Given the description of an element on the screen output the (x, y) to click on. 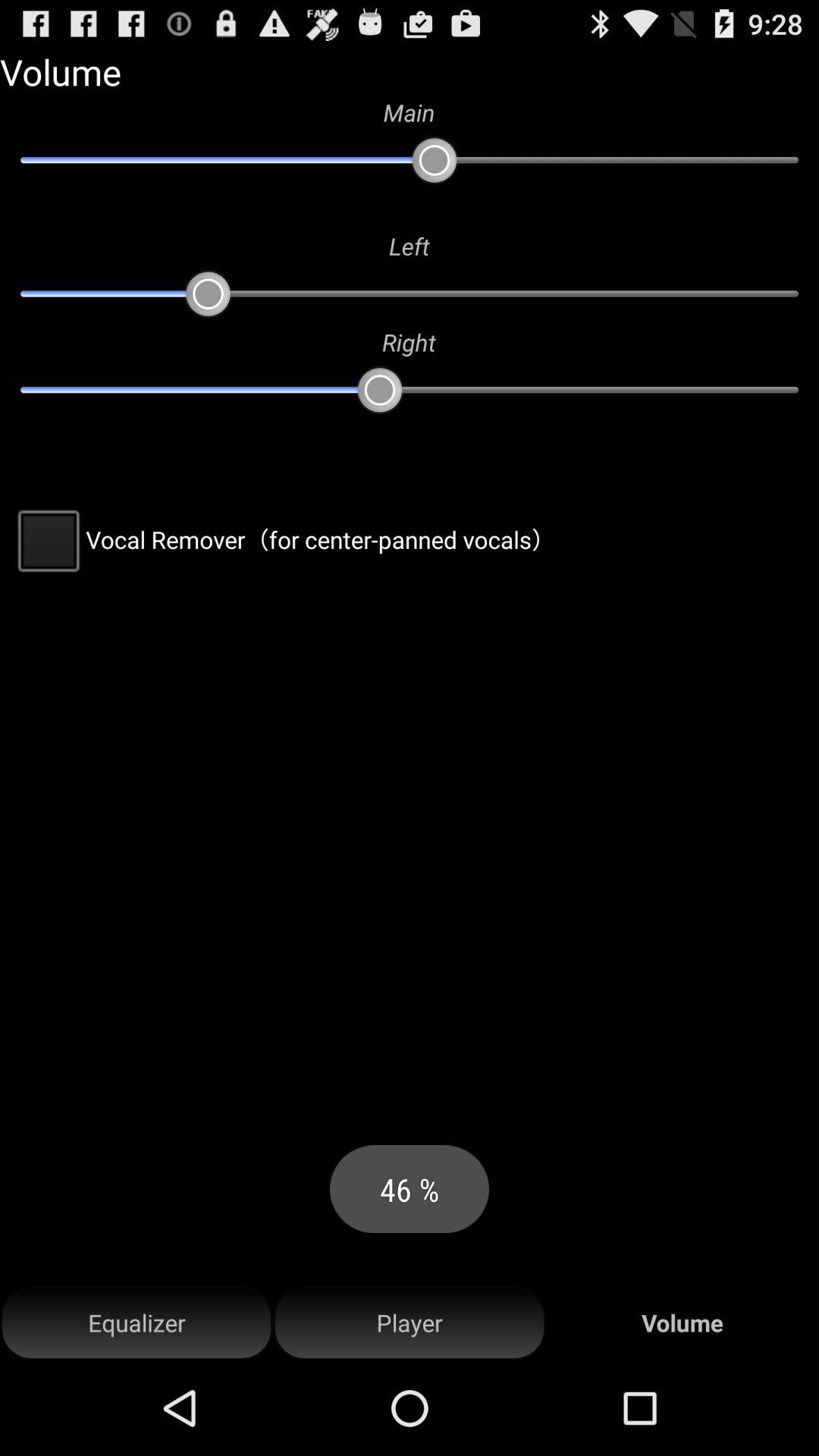
open the equalizer (136, 1323)
